Given the description of an element on the screen output the (x, y) to click on. 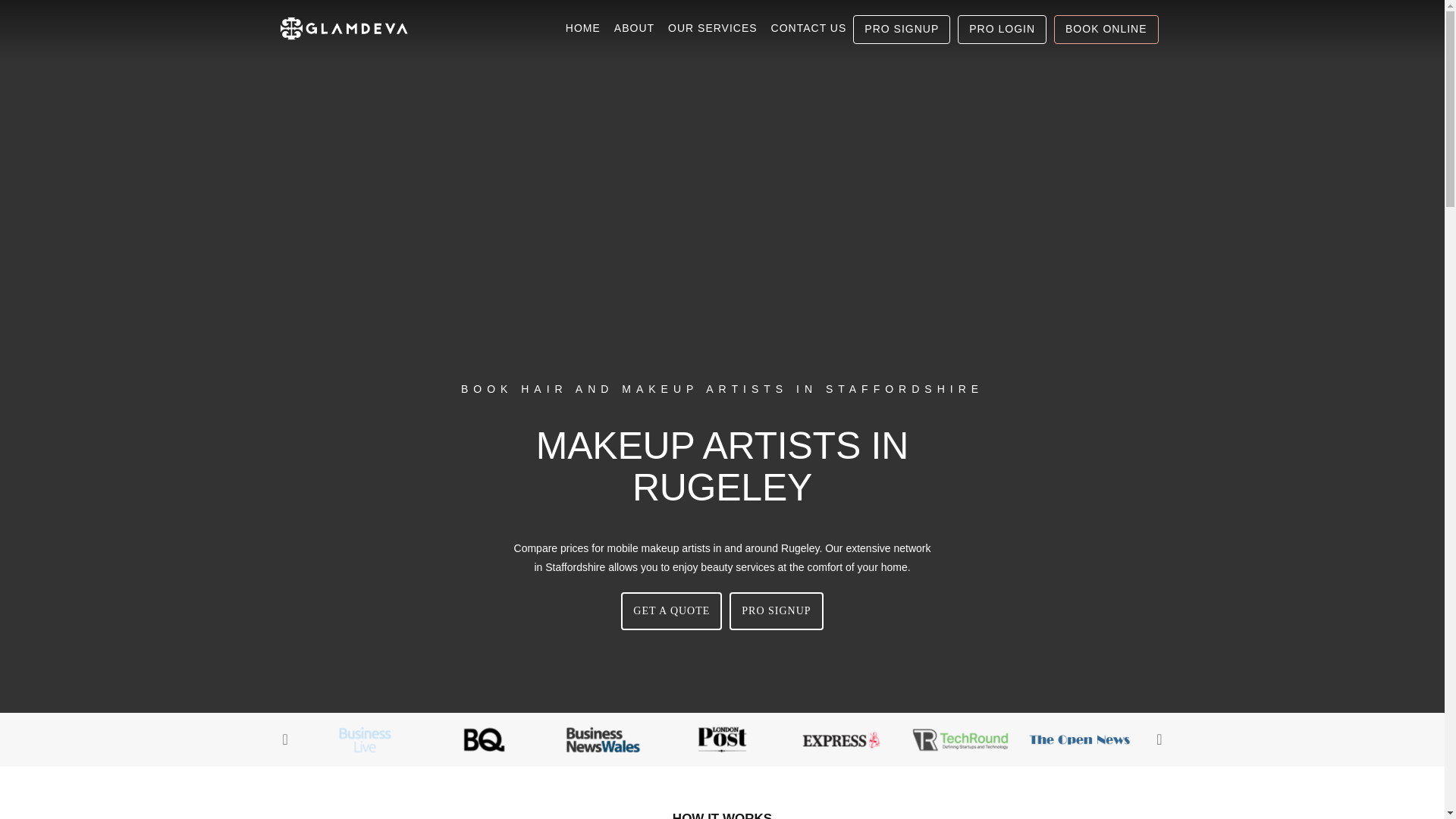
Compare Prices (671, 610)
ABOUT (634, 12)
Pro Login (1002, 29)
PRO SIGNUP (901, 29)
Contact Us (808, 28)
Home (583, 28)
GET A QUOTE (671, 610)
BOOK ONLINE (1105, 29)
Glamdeva (392, 28)
PRO LOGIN (1002, 29)
